Given the description of an element on the screen output the (x, y) to click on. 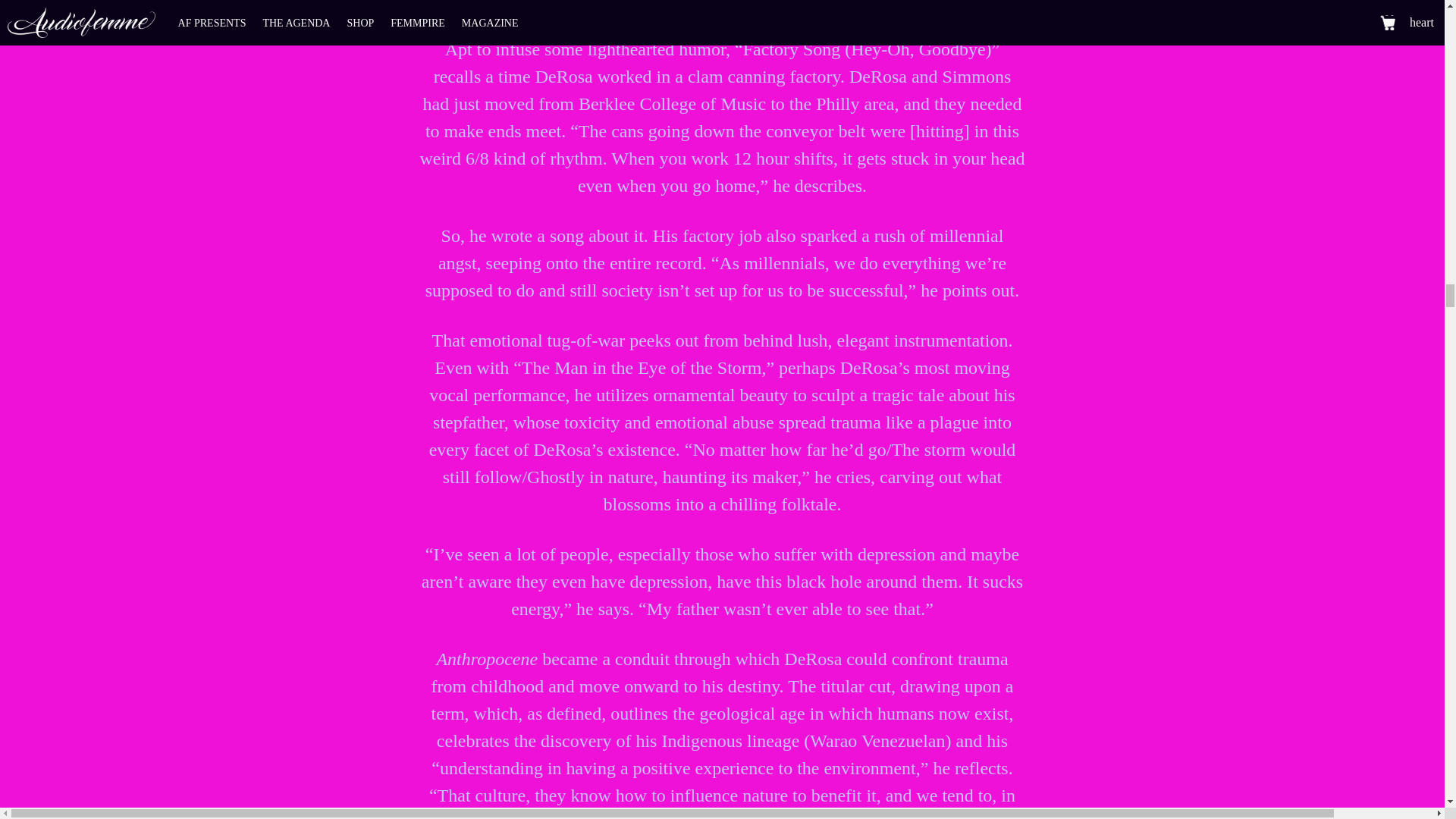
Anthropocene (71, 8)
ThebandIvory (21, 8)
